Given the description of an element on the screen output the (x, y) to click on. 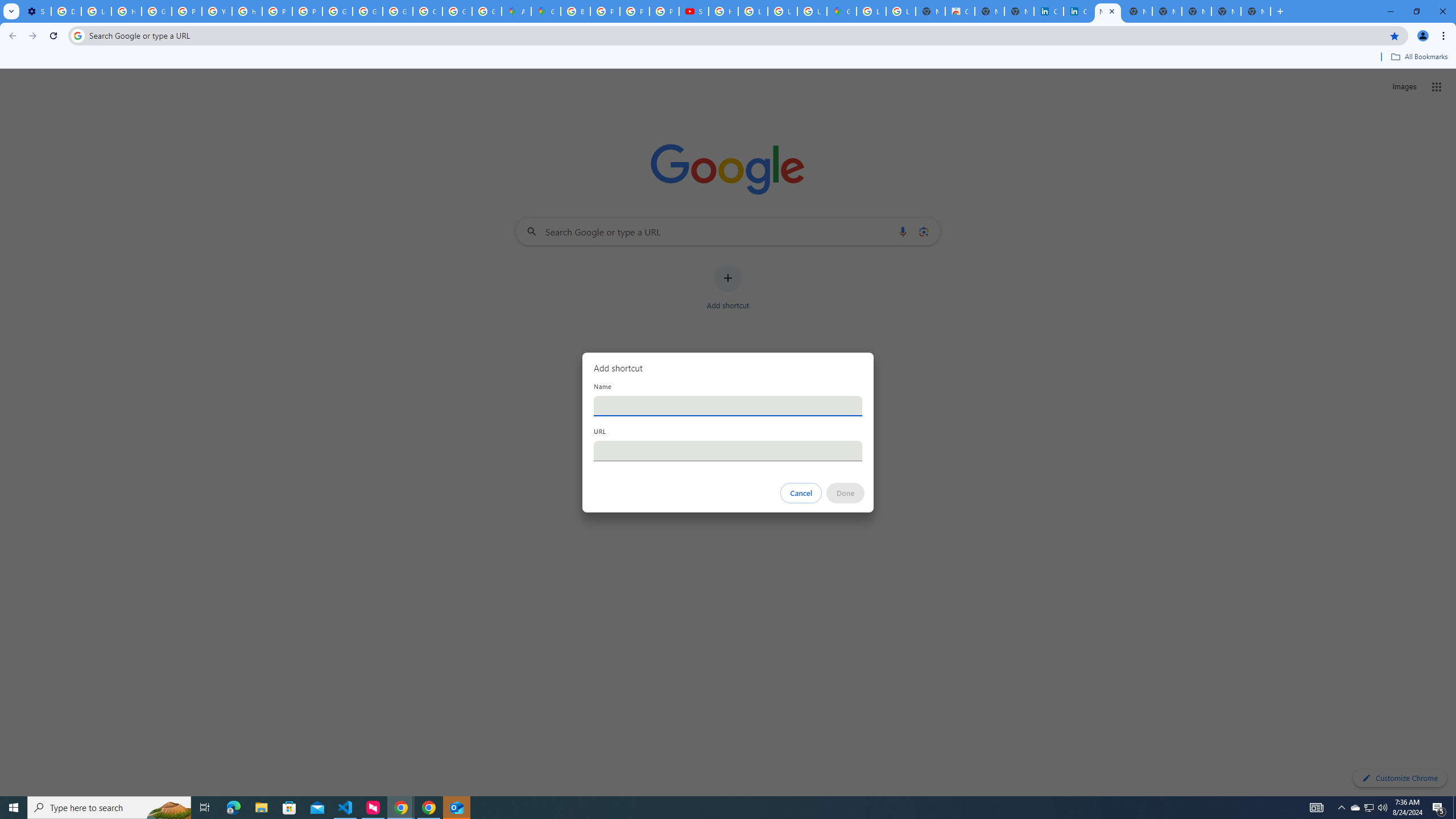
URL (727, 450)
Google Maps (545, 11)
Settings - Customize profile (36, 11)
Cookie Policy | LinkedIn (1048, 11)
Create your Google Account (426, 11)
https://scholar.google.com/ (247, 11)
Privacy Help Center - Policies Help (634, 11)
